Given the description of an element on the screen output the (x, y) to click on. 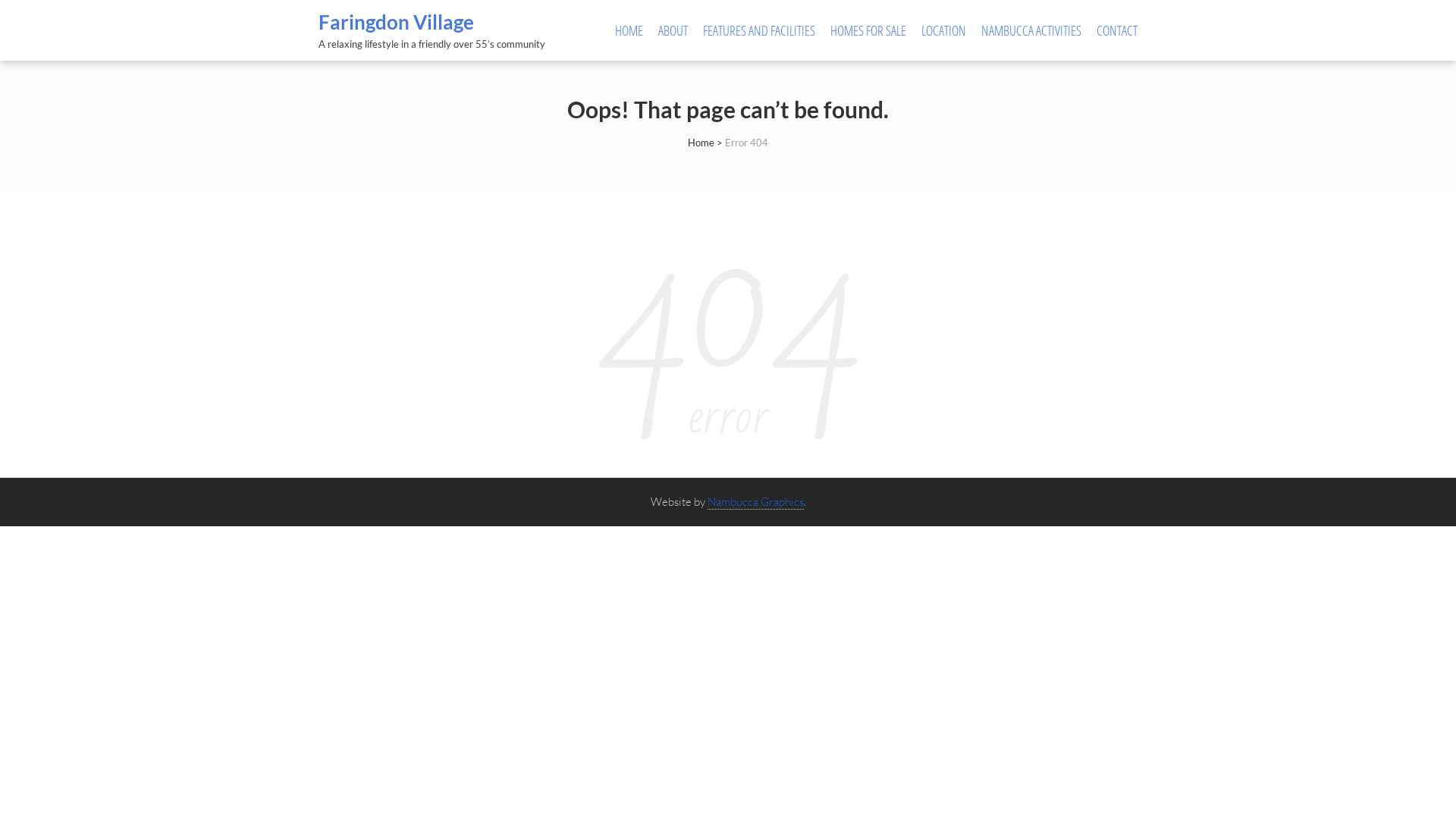
Nambucca Graphics Element type: text (754, 501)
CONTACT Element type: text (1116, 30)
ABOUT Element type: text (672, 30)
FEATURES AND FACILITIES Element type: text (758, 30)
HOMES FOR SALE Element type: text (868, 30)
NAMBUCCA ACTIVITIES Element type: text (1031, 30)
LOCATION Element type: text (943, 30)
Home Element type: text (700, 142)
HOME Element type: text (629, 30)
